Given the description of an element on the screen output the (x, y) to click on. 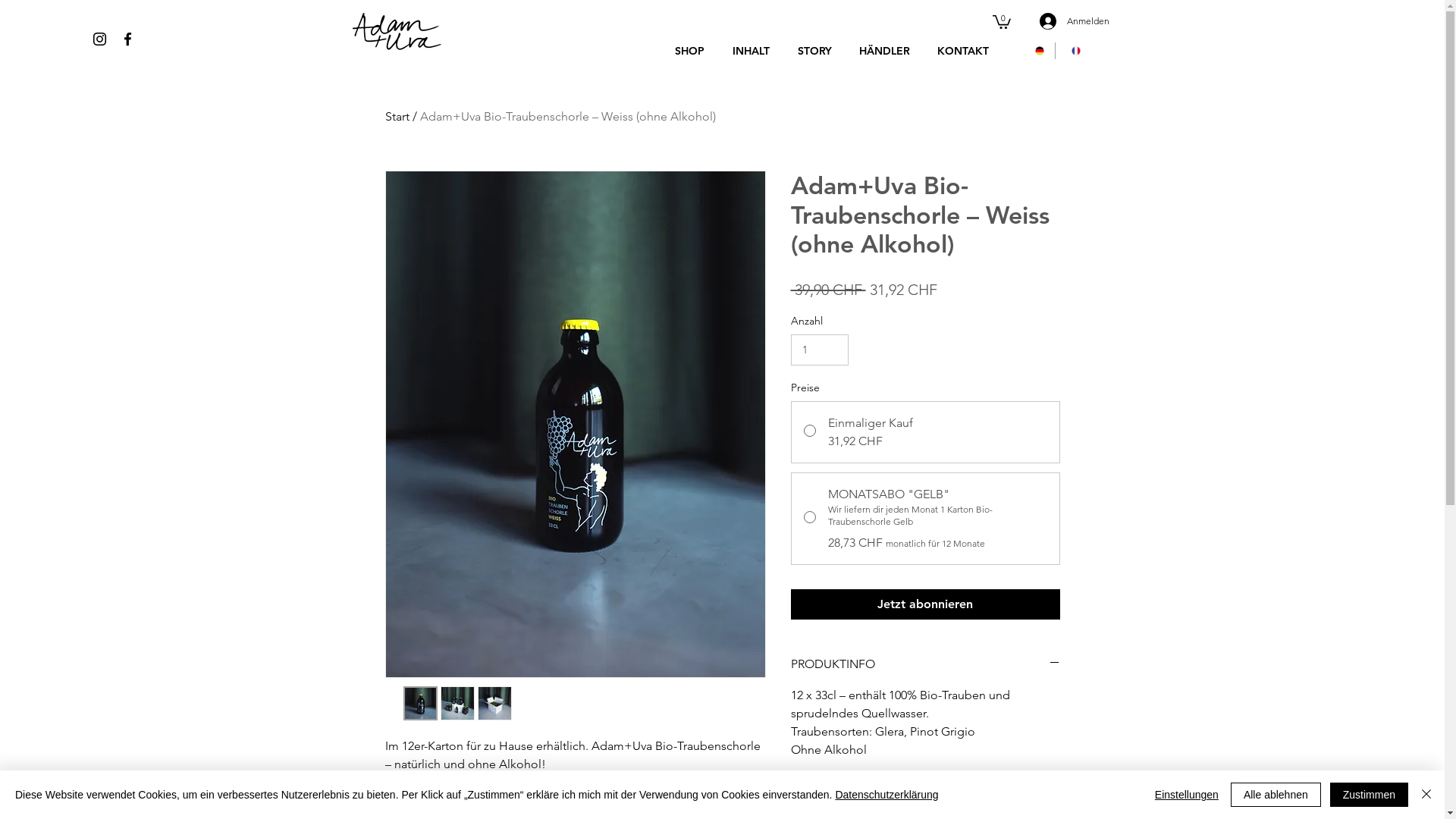
Jetzt abonnieren Element type: text (924, 604)
KONTAKT Element type: text (959, 50)
Zustimmen Element type: text (1369, 794)
Alle ablehnen Element type: text (1275, 794)
0 Element type: text (1000, 20)
STORY Element type: text (812, 50)
INHALT Element type: text (748, 50)
PRODUKTINFO Element type: text (924, 663)
Start Element type: text (397, 116)
SHOP Element type: text (686, 50)
Anmelden Element type: text (1059, 21)
